Given the description of an element on the screen output the (x, y) to click on. 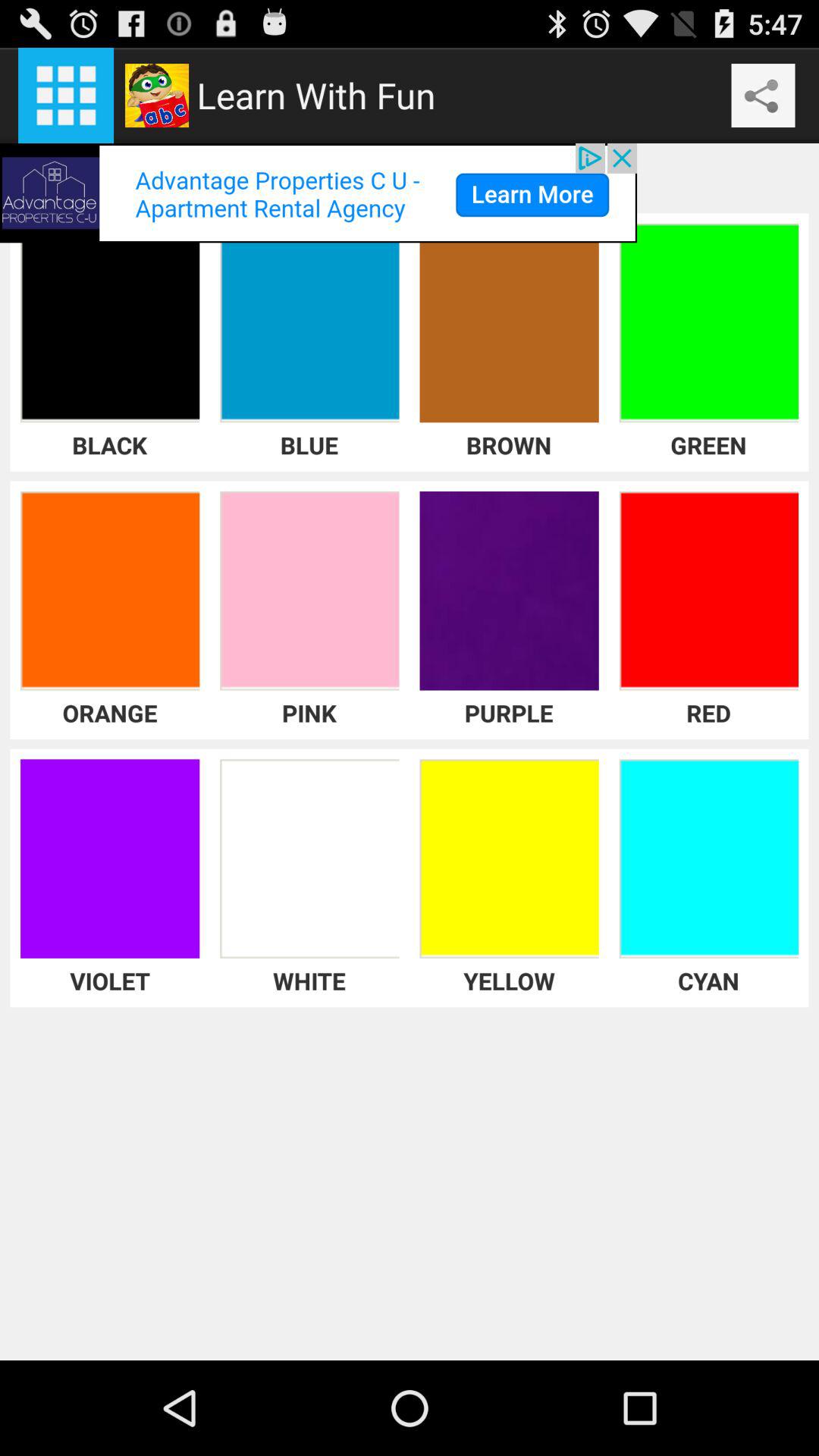
go to the partner 's website (318, 192)
